Given the description of an element on the screen output the (x, y) to click on. 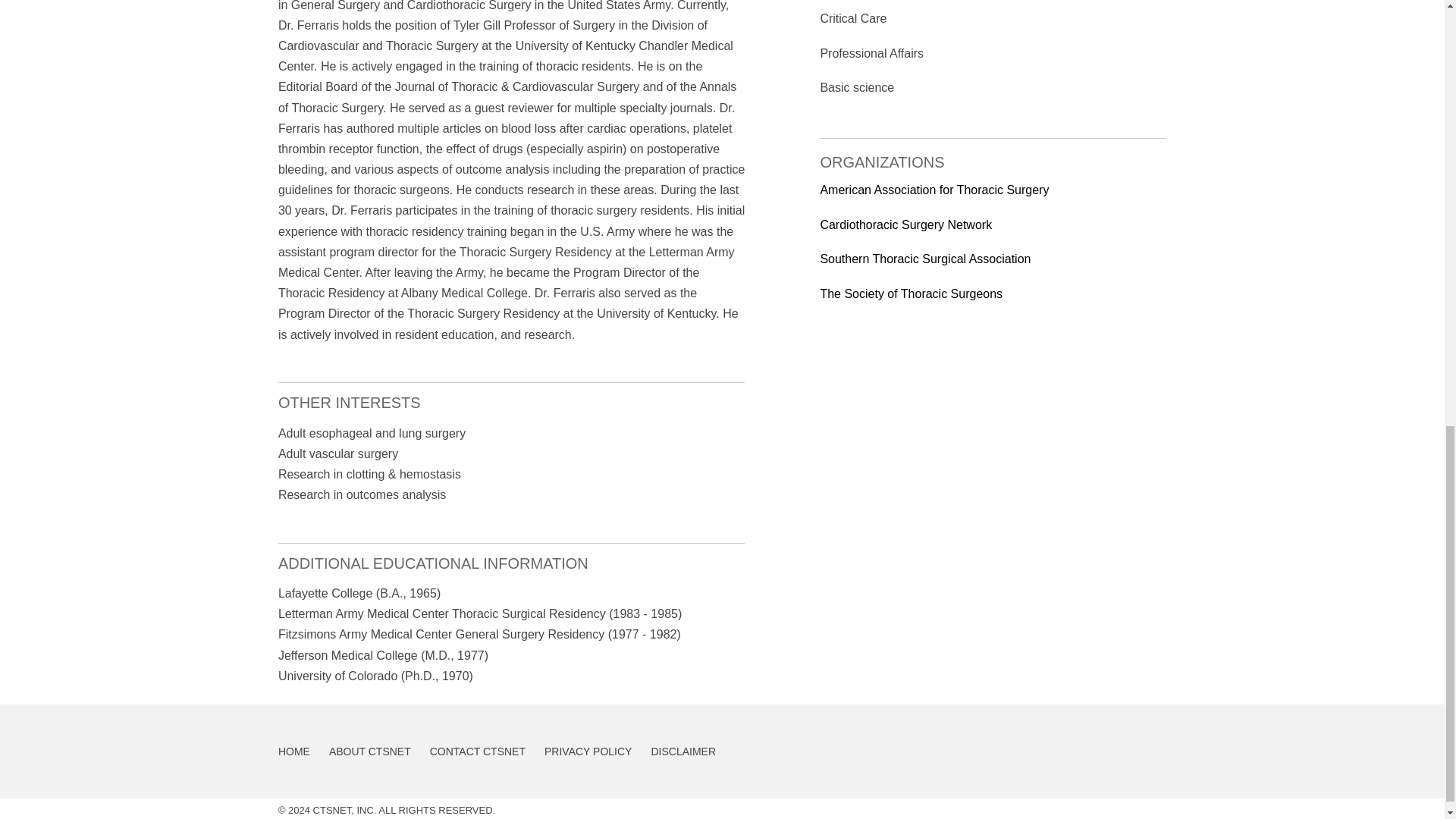
home (294, 751)
